Given the description of an element on the screen output the (x, y) to click on. 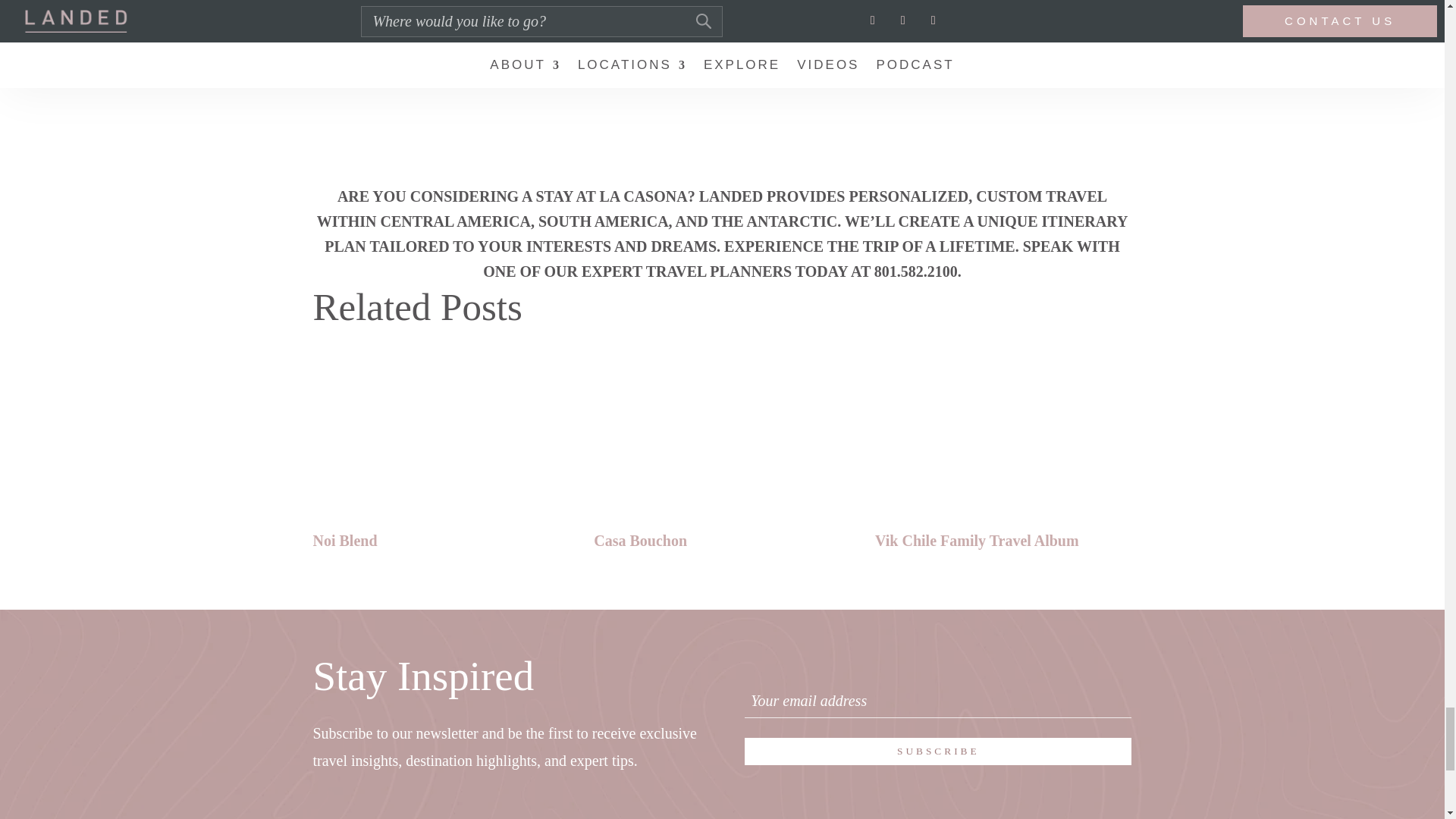
Subscribe (937, 750)
